Given the description of an element on the screen output the (x, y) to click on. 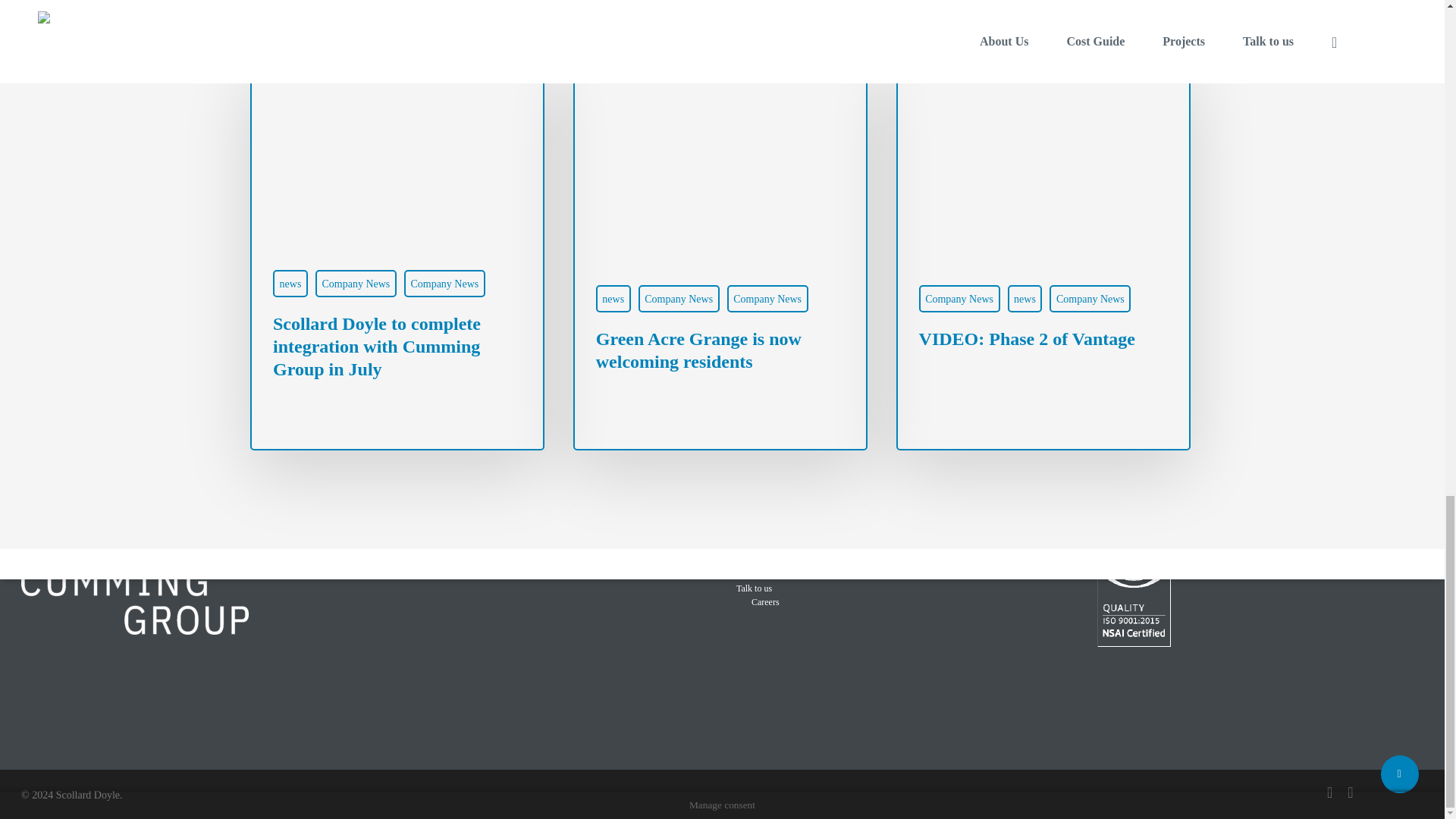
Company News (444, 283)
news (290, 283)
Company News (355, 283)
news (612, 298)
Company News (767, 298)
Company News (679, 298)
